Given the description of an element on the screen output the (x, y) to click on. 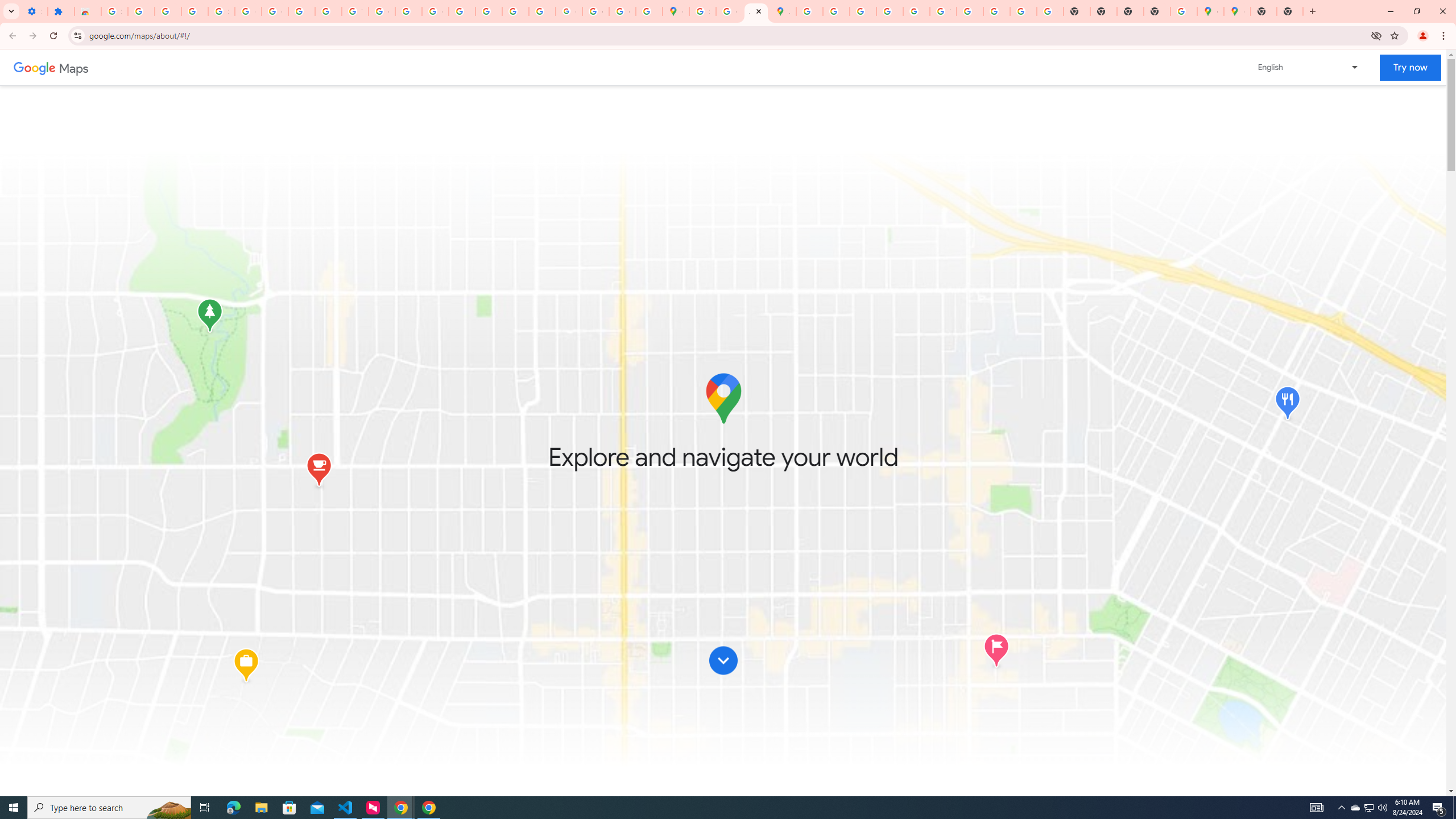
Google Account Help (275, 11)
Google Maps (1236, 11)
Privacy Help Center - Policies Help (462, 11)
New Tab (1289, 11)
Reviews: Helix Fruit Jump Arcade Game (87, 11)
Google Account Help (248, 11)
Skip to Content (723, 660)
